Given the description of an element on the screen output the (x, y) to click on. 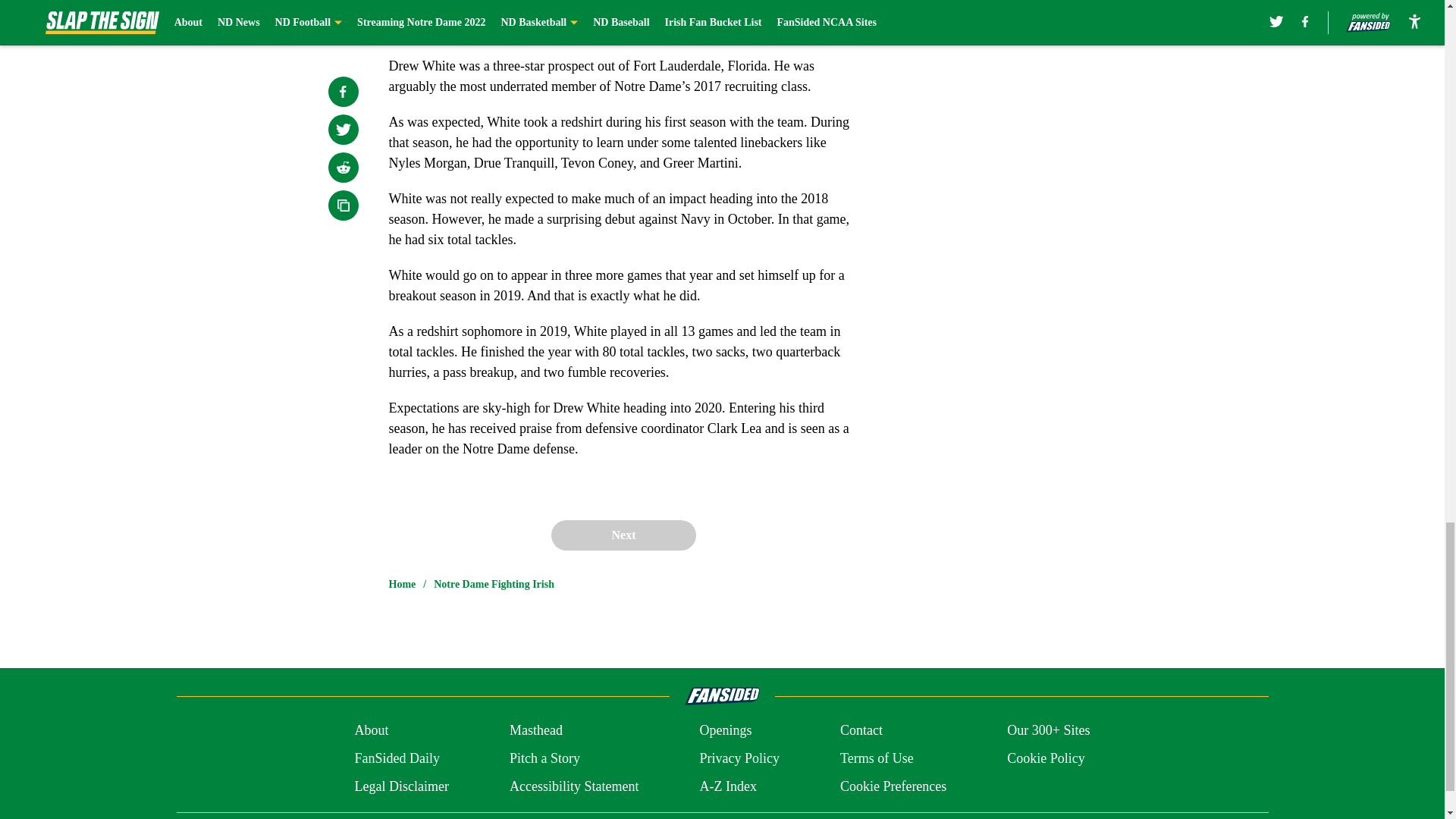
Contact (861, 730)
Legal Disclaimer (400, 786)
Home (401, 584)
Notre Dame Fighting Irish (493, 584)
Cookie Policy (1045, 758)
Pitch a Story (544, 758)
Privacy Policy (738, 758)
Next (622, 535)
Terms of Use (877, 758)
About (370, 730)
FanSided Daily (396, 758)
Masthead (535, 730)
Openings (724, 730)
